Given the description of an element on the screen output the (x, y) to click on. 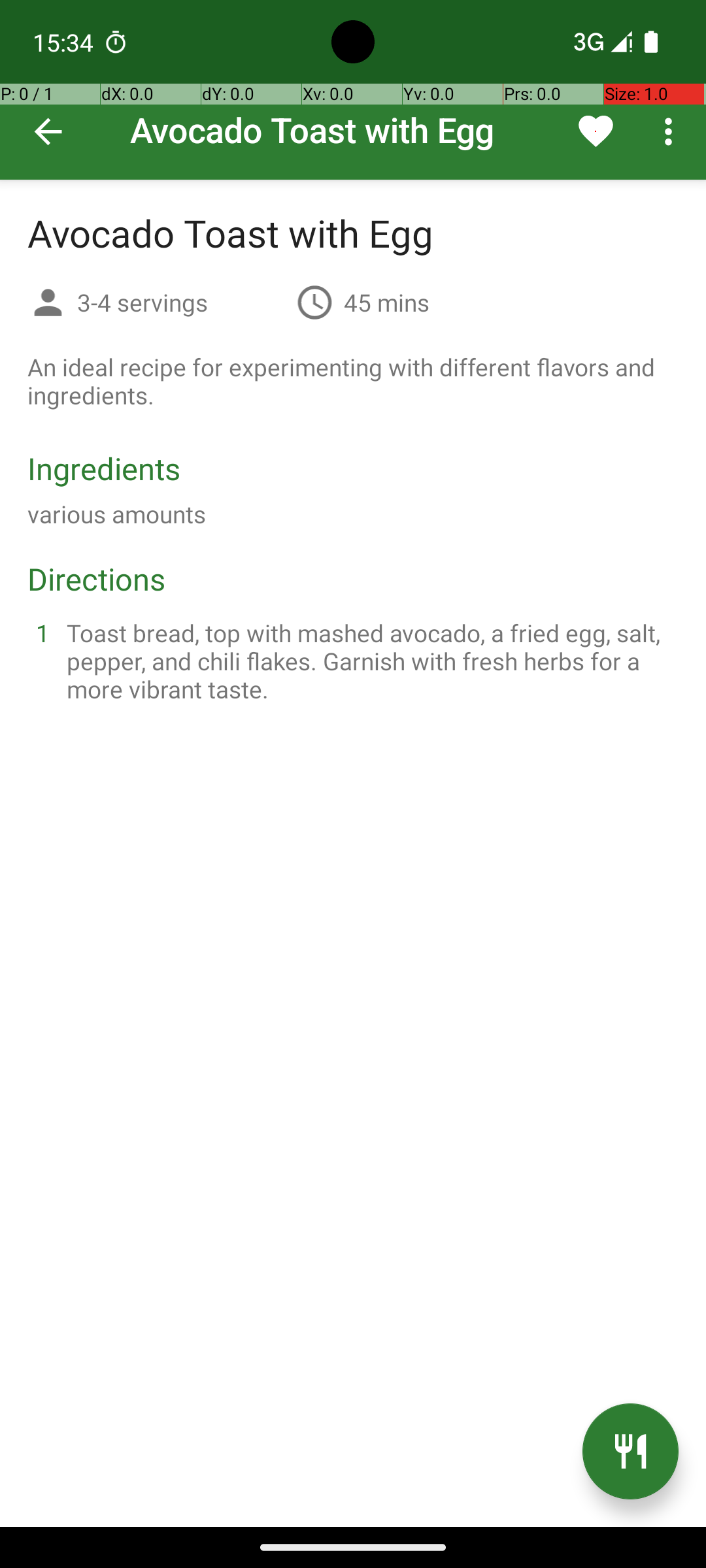
Toast bread, top with mashed avocado, a fried egg, salt, pepper, and chili flakes. Garnish with fresh herbs for a more vibrant taste. Element type: android.widget.TextView (368, 660)
